Given the description of an element on the screen output the (x, y) to click on. 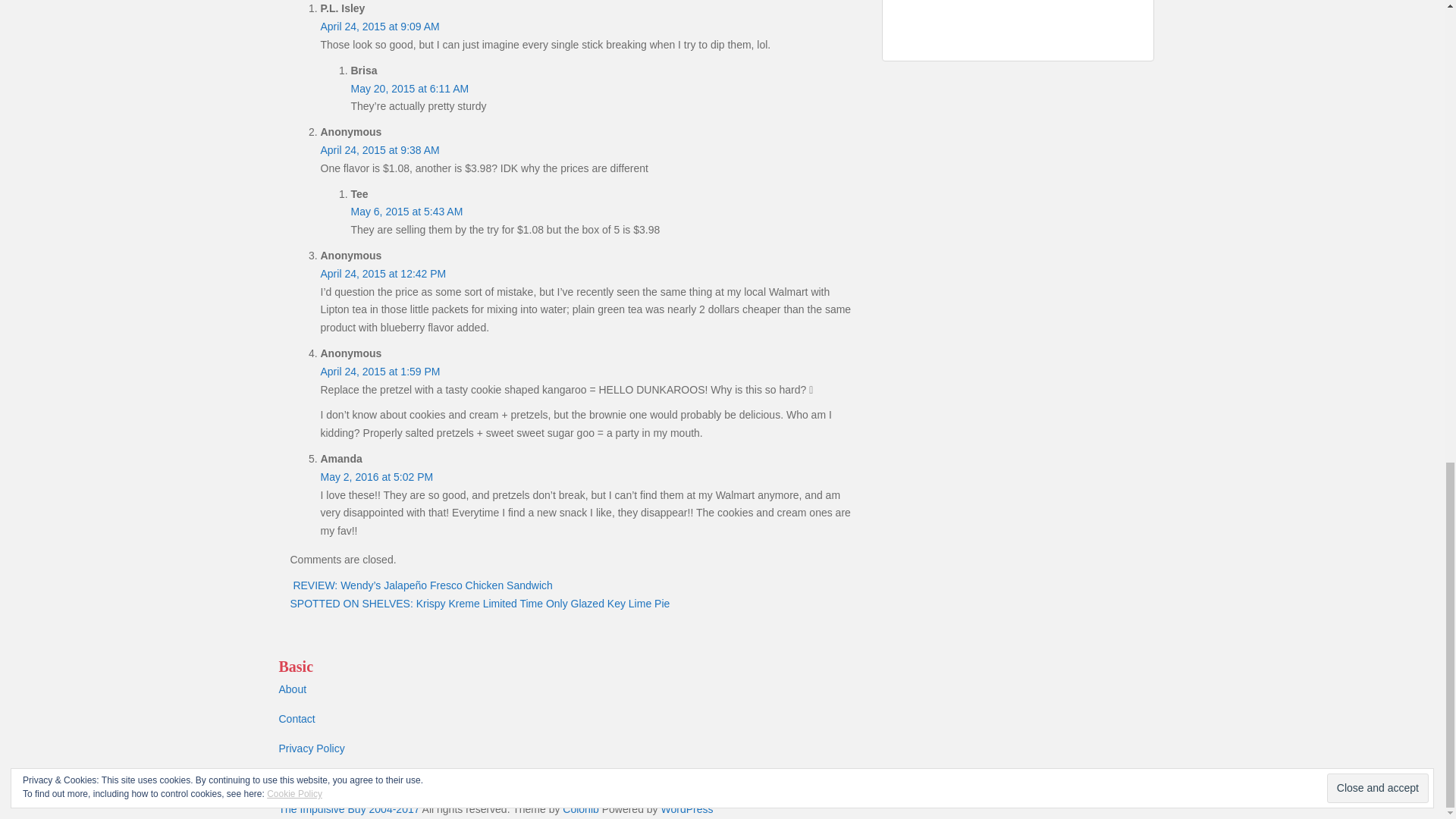
April 24, 2015 at 1:59 PM (379, 371)
April 24, 2015 at 9:38 AM (379, 150)
April 24, 2015 at 9:09 AM (379, 26)
May 6, 2015 at 5:43 AM (406, 211)
May 20, 2015 at 6:11 AM (409, 88)
April 24, 2015 at 12:42 PM (382, 273)
May 2, 2016 at 5:02 PM (376, 476)
